Given the description of an element on the screen output the (x, y) to click on. 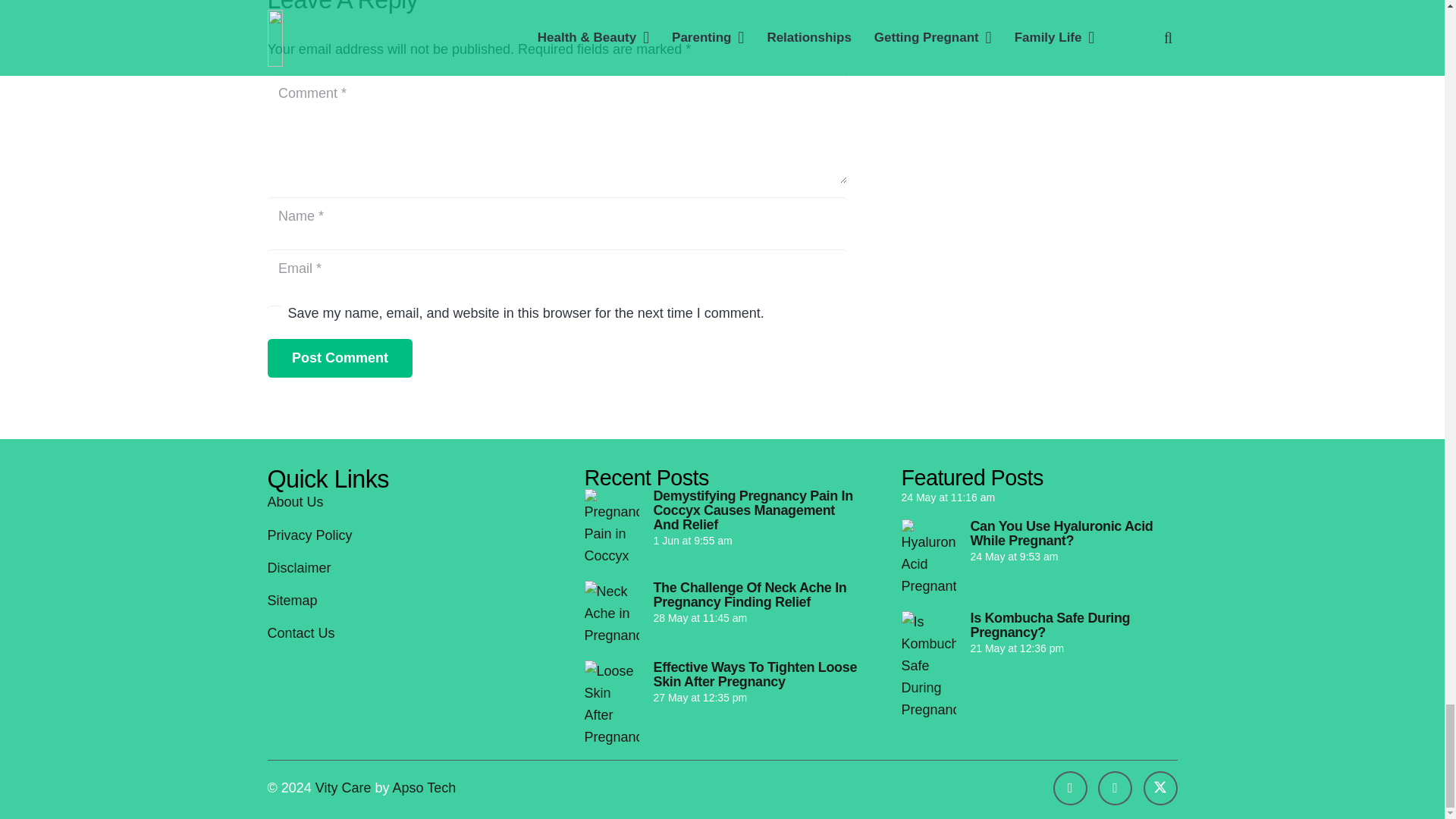
1 (274, 313)
